Given the description of an element on the screen output the (x, y) to click on. 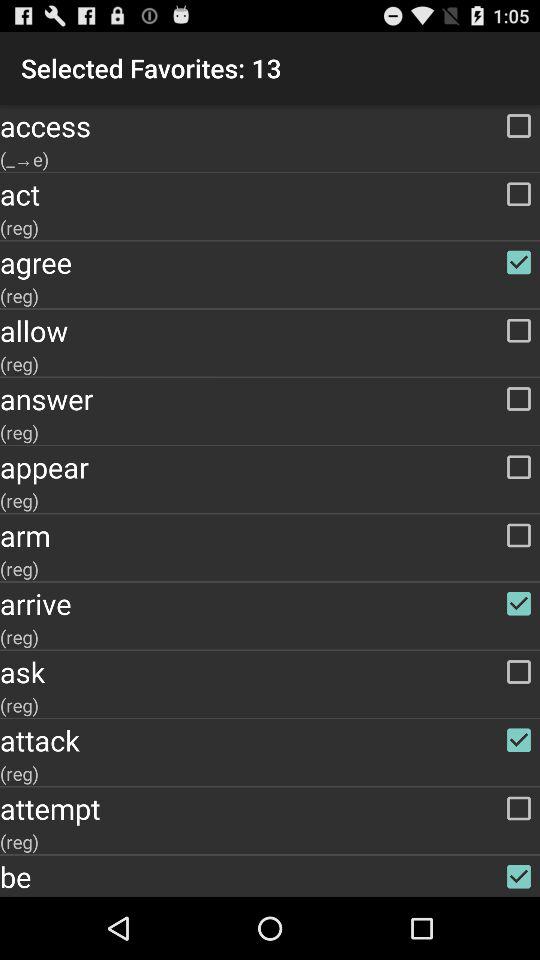
flip to allow item (270, 330)
